Given the description of an element on the screen output the (x, y) to click on. 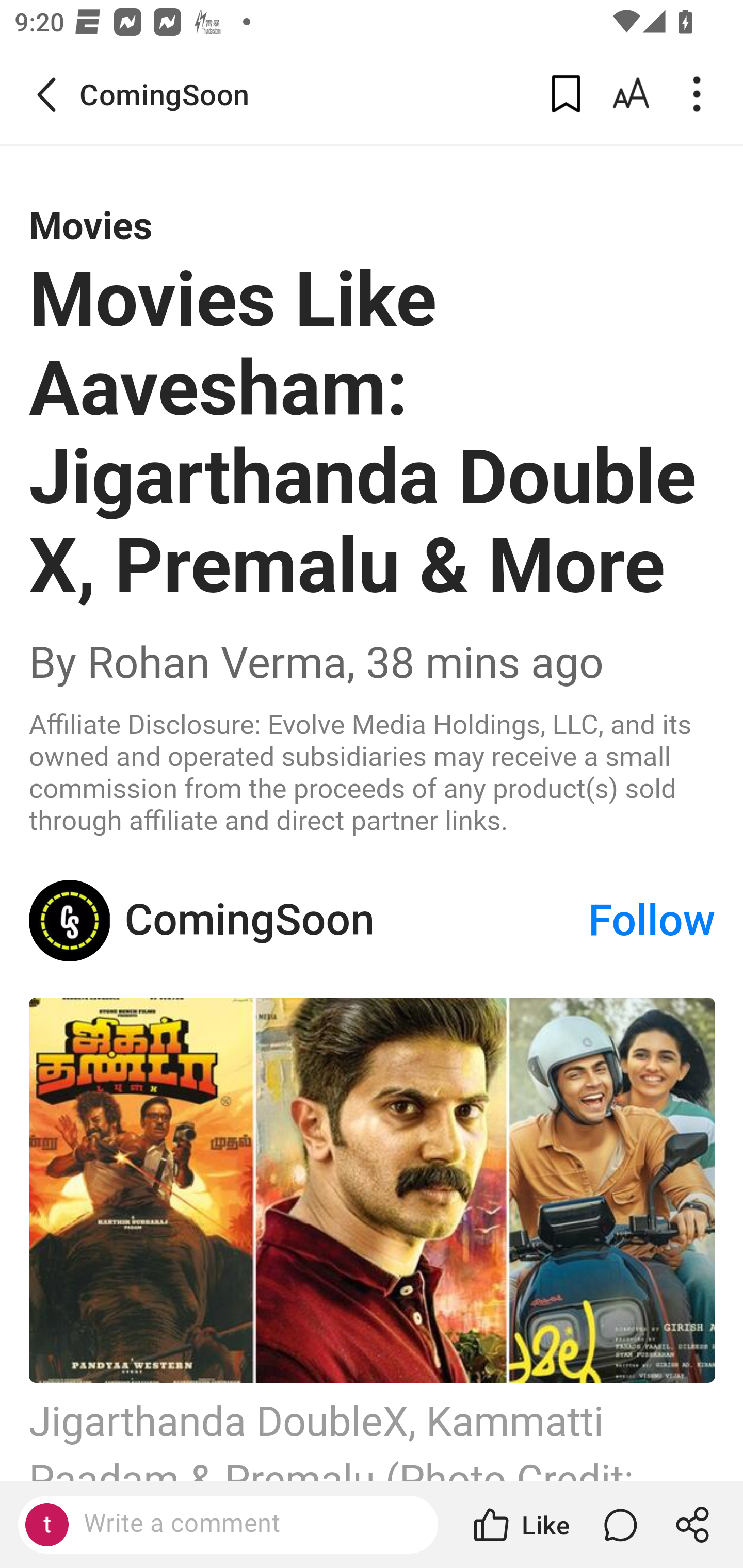
ComingSoon (70, 920)
ComingSoon (355, 920)
Follow (651, 920)
Like (519, 1524)
Write a comment (245, 1523)
